Given the description of an element on the screen output the (x, y) to click on. 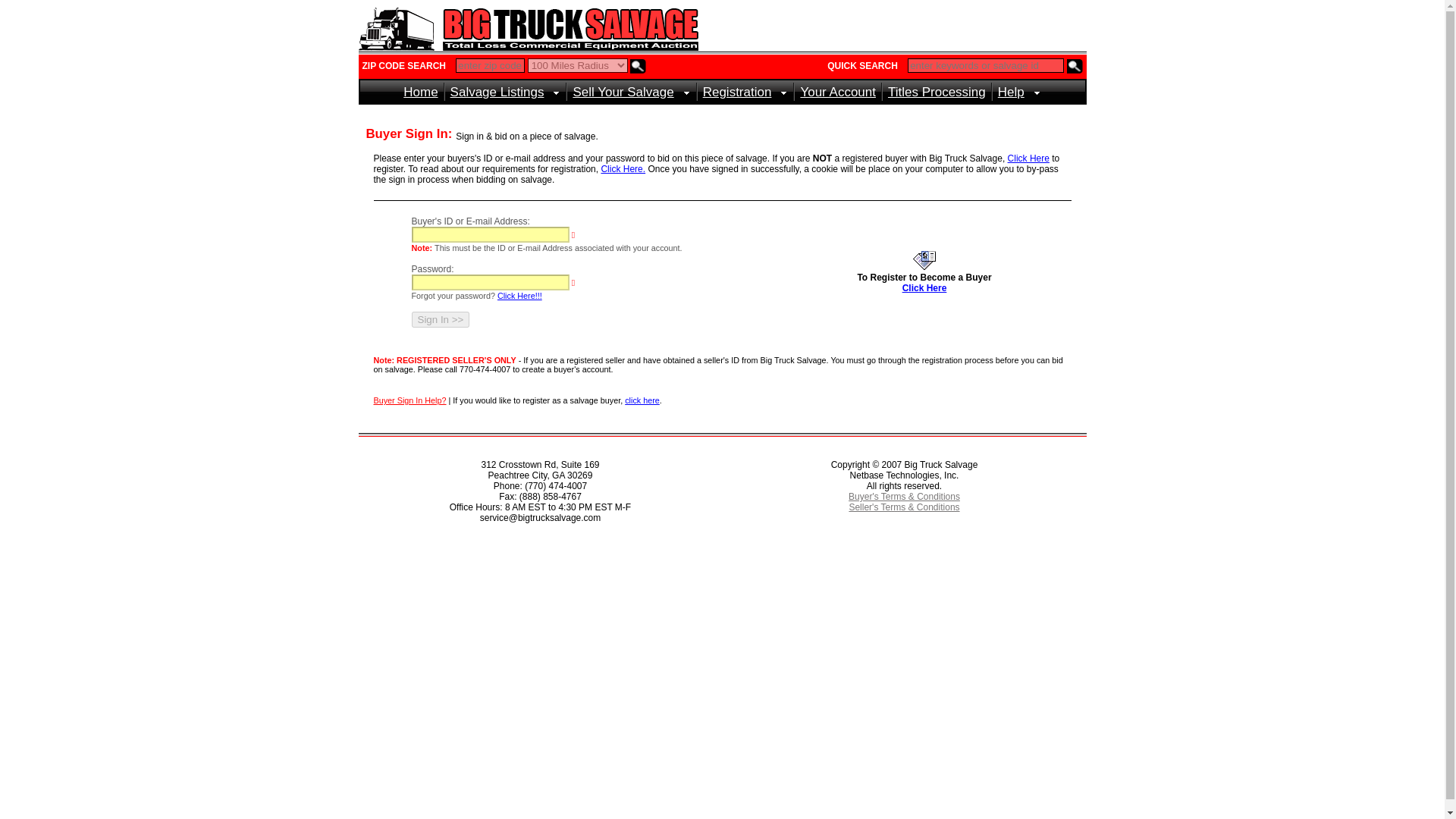
enter zip code (489, 65)
Help (1018, 92)
Click Here. (622, 168)
Click Here!!! (519, 295)
Titles Processing (936, 92)
Click Here (1028, 158)
Sell Your Salvage (630, 92)
enter keywords or salvage id (985, 65)
click here (641, 399)
Registration (745, 92)
Click Here (924, 286)
Salvage Listings (505, 92)
Your Account (837, 92)
Home (420, 92)
